Given the description of an element on the screen output the (x, y) to click on. 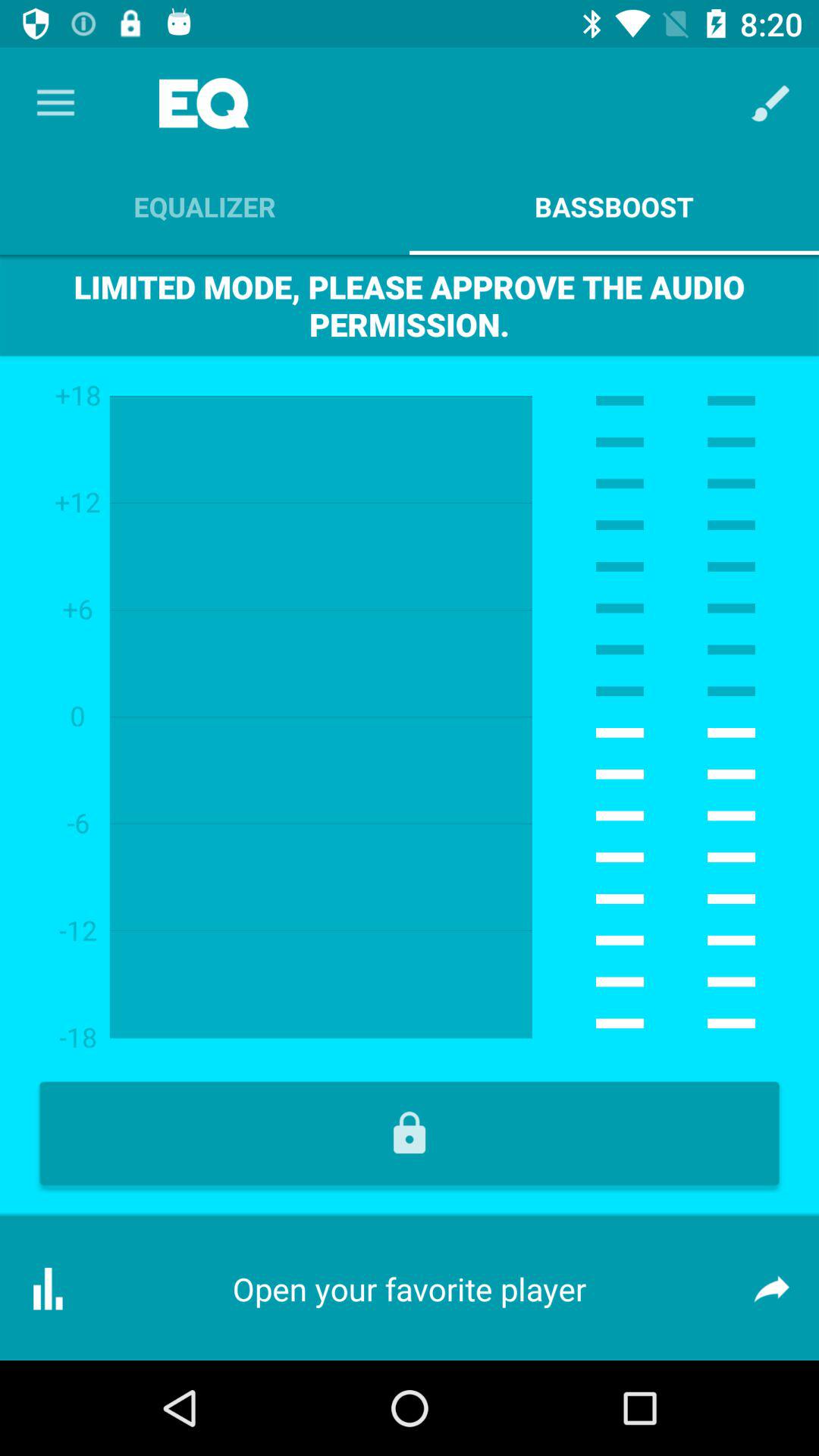
lock symbol (409, 1133)
